Given the description of an element on the screen output the (x, y) to click on. 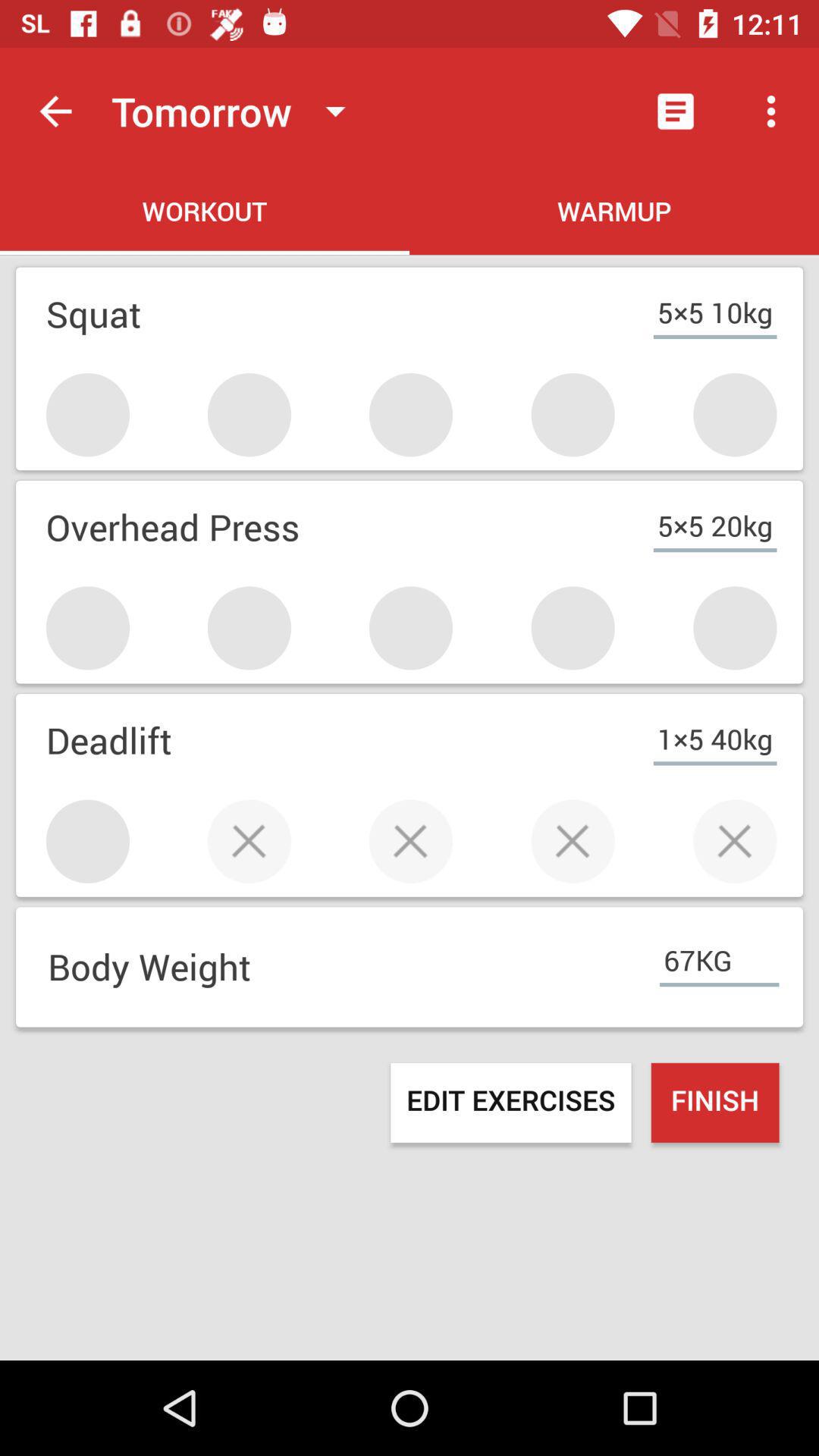
tap edit exercises (510, 1102)
